Given the description of an element on the screen output the (x, y) to click on. 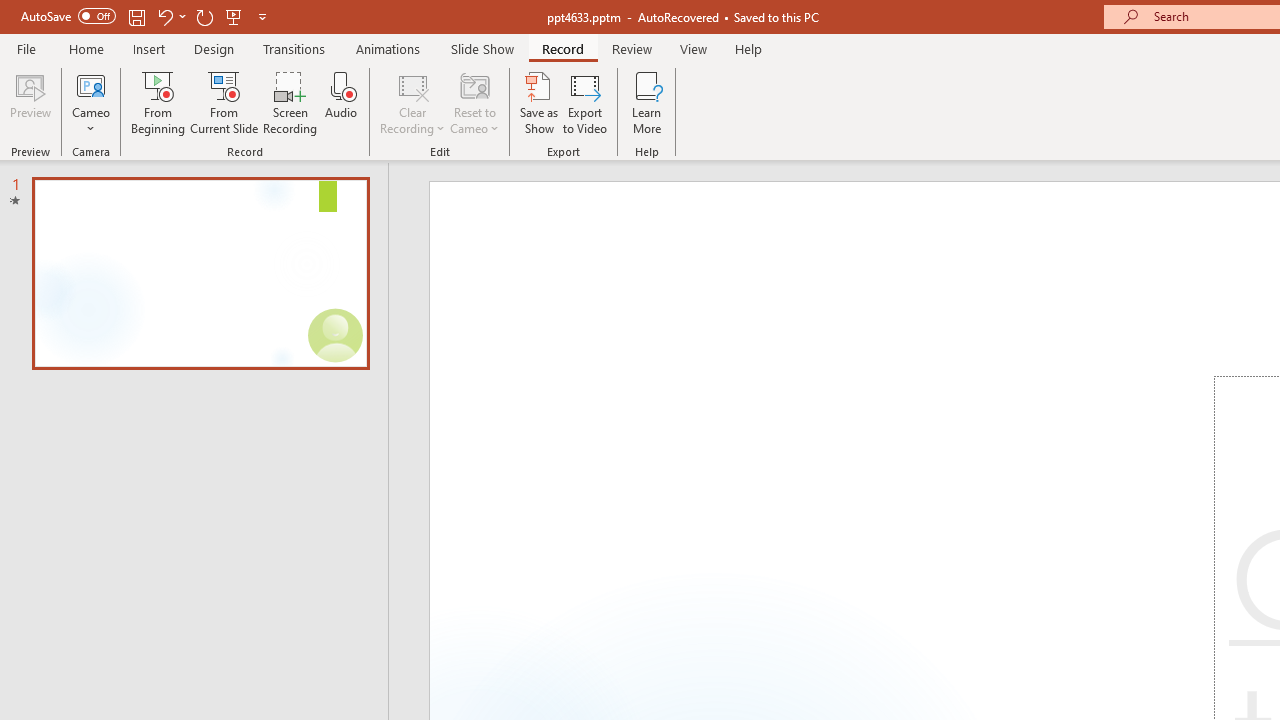
Learn More (646, 102)
Export to Video (585, 102)
Save as Show (539, 102)
